Given the description of an element on the screen output the (x, y) to click on. 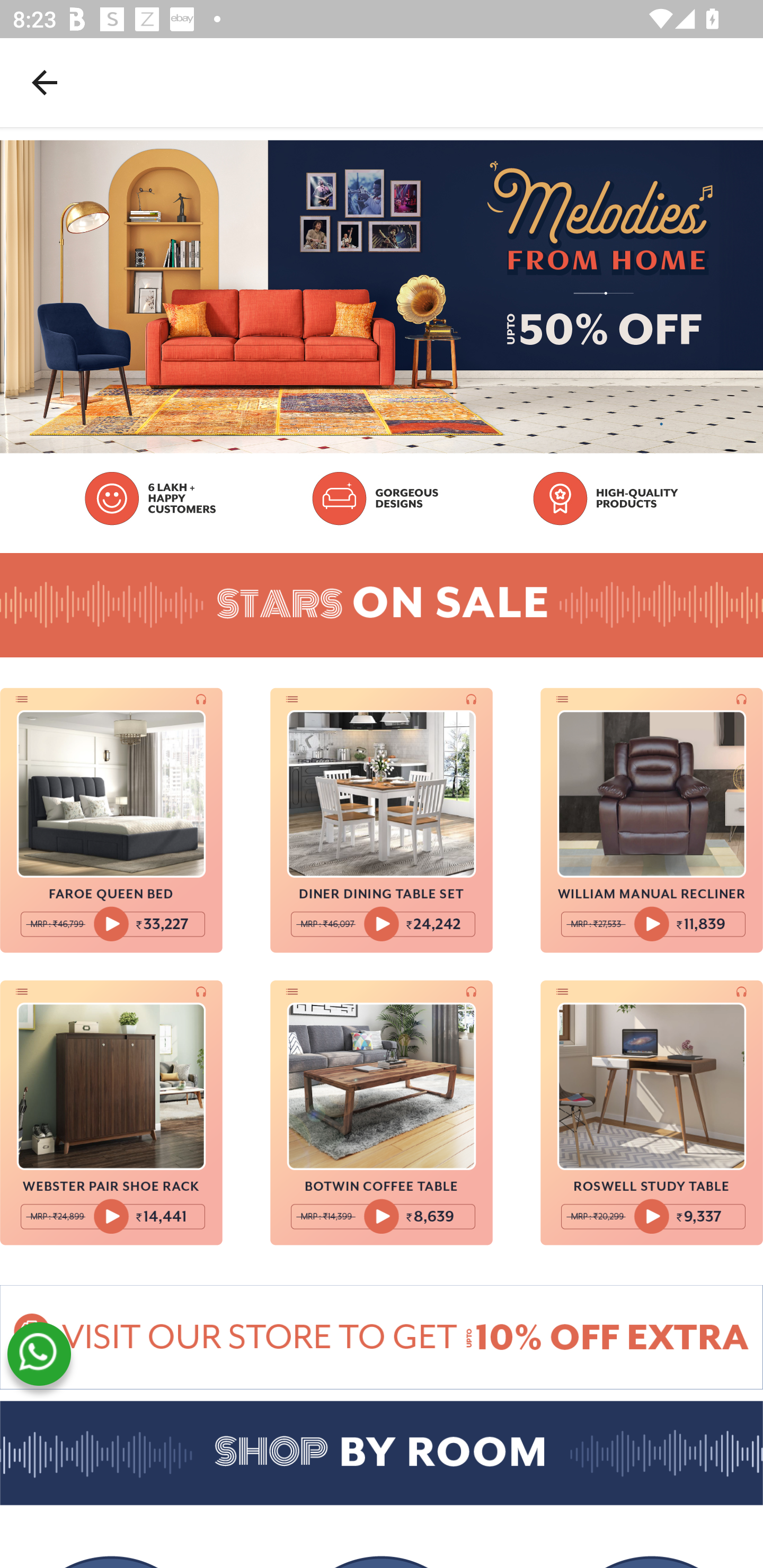
Navigate up (44, 82)
blockbuster deals-1 (111, 819)
Blockbuster deal-2 (381, 819)
blockbuster deals-3 (651, 819)
blockbuster deals-4 (111, 1112)
Melodies-From_home (381, 1337)
whatsapp (38, 1353)
